Given the description of an element on the screen output the (x, y) to click on. 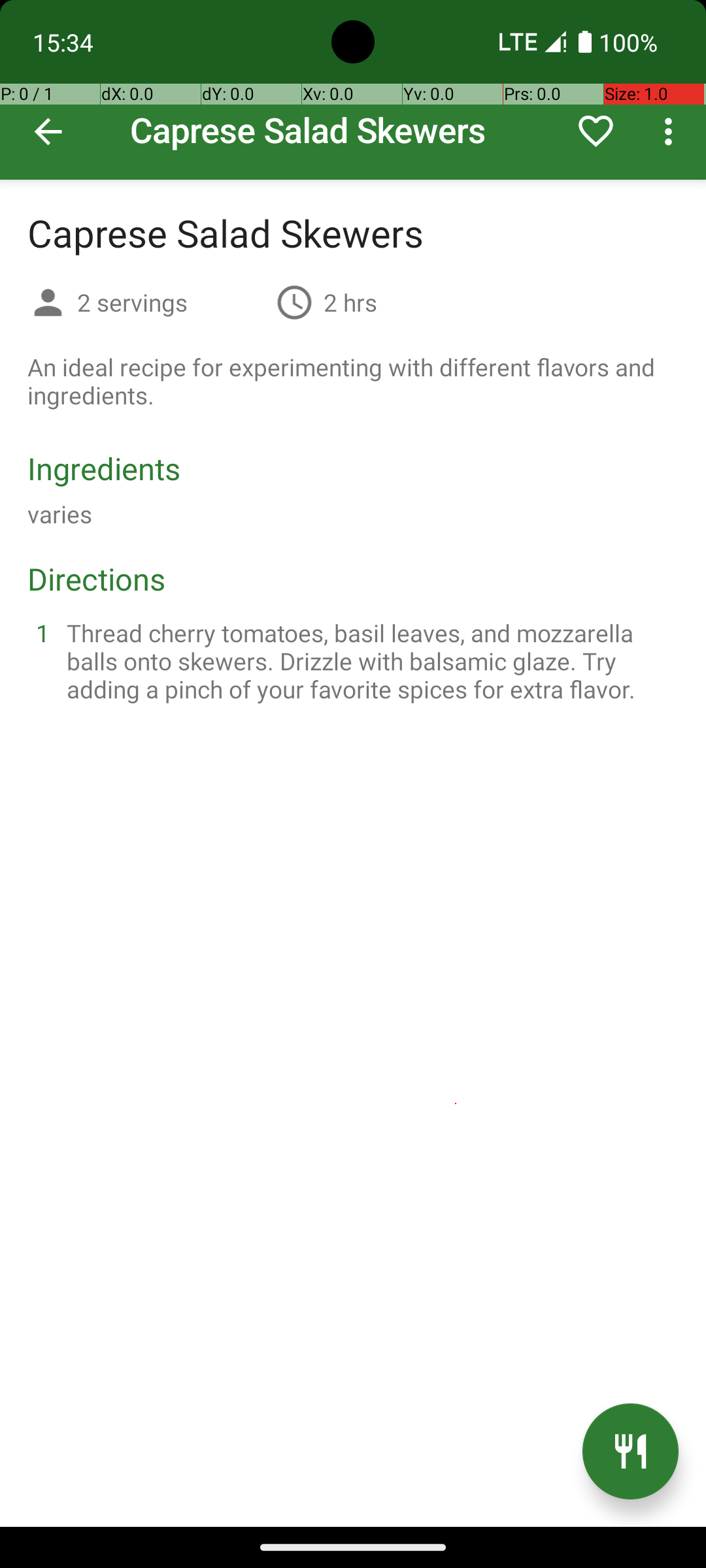
Thread cherry tomatoes, basil leaves, and mozzarella balls onto skewers. Drizzle with balsamic glaze. Try adding a pinch of your favorite spices for extra flavor. Element type: android.widget.TextView (368, 660)
